Given the description of an element on the screen output the (x, y) to click on. 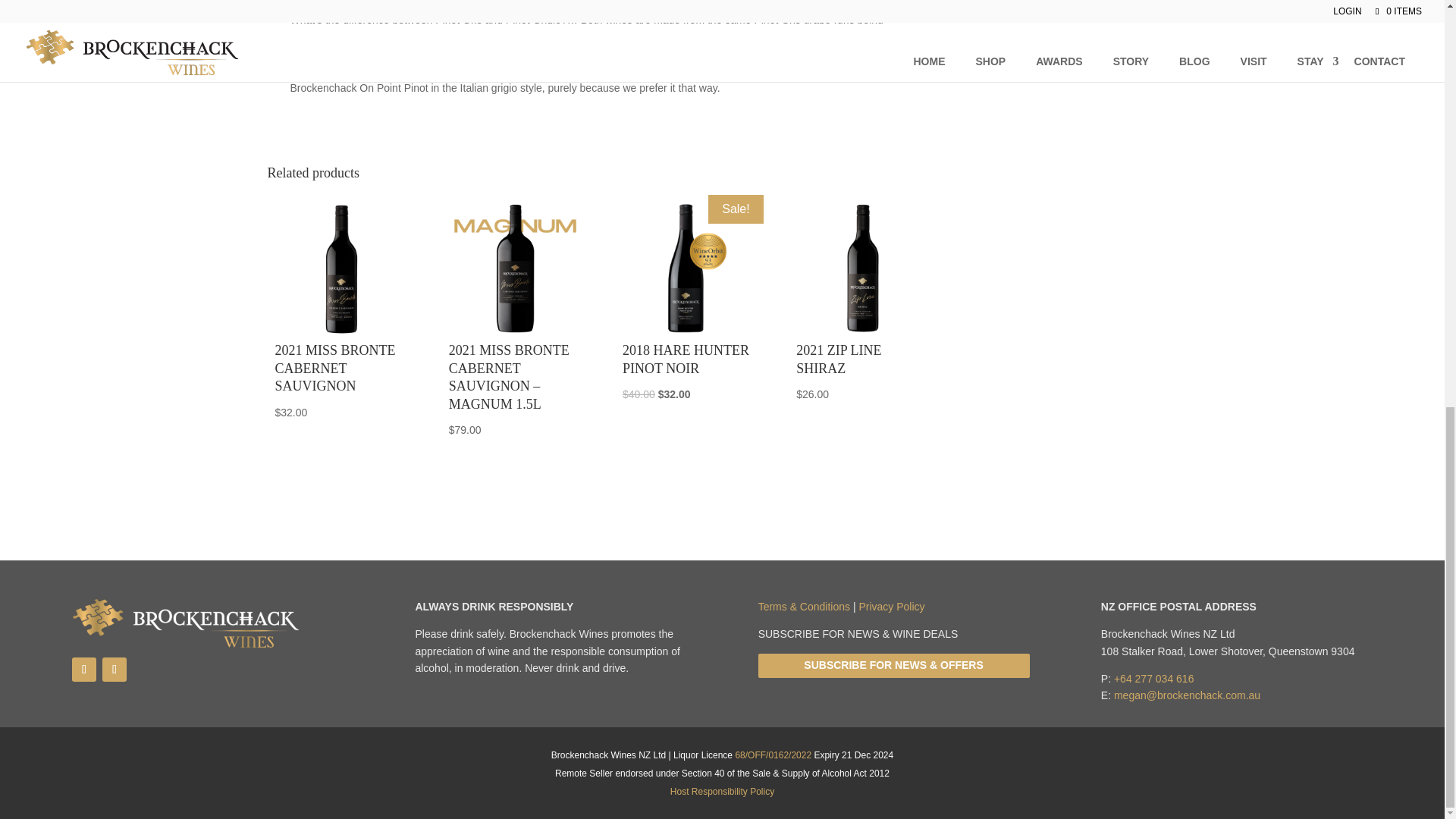
Privacy Policy (891, 606)
Follow on Instagram (113, 669)
Follow on Facebook (83, 669)
